Given the description of an element on the screen output the (x, y) to click on. 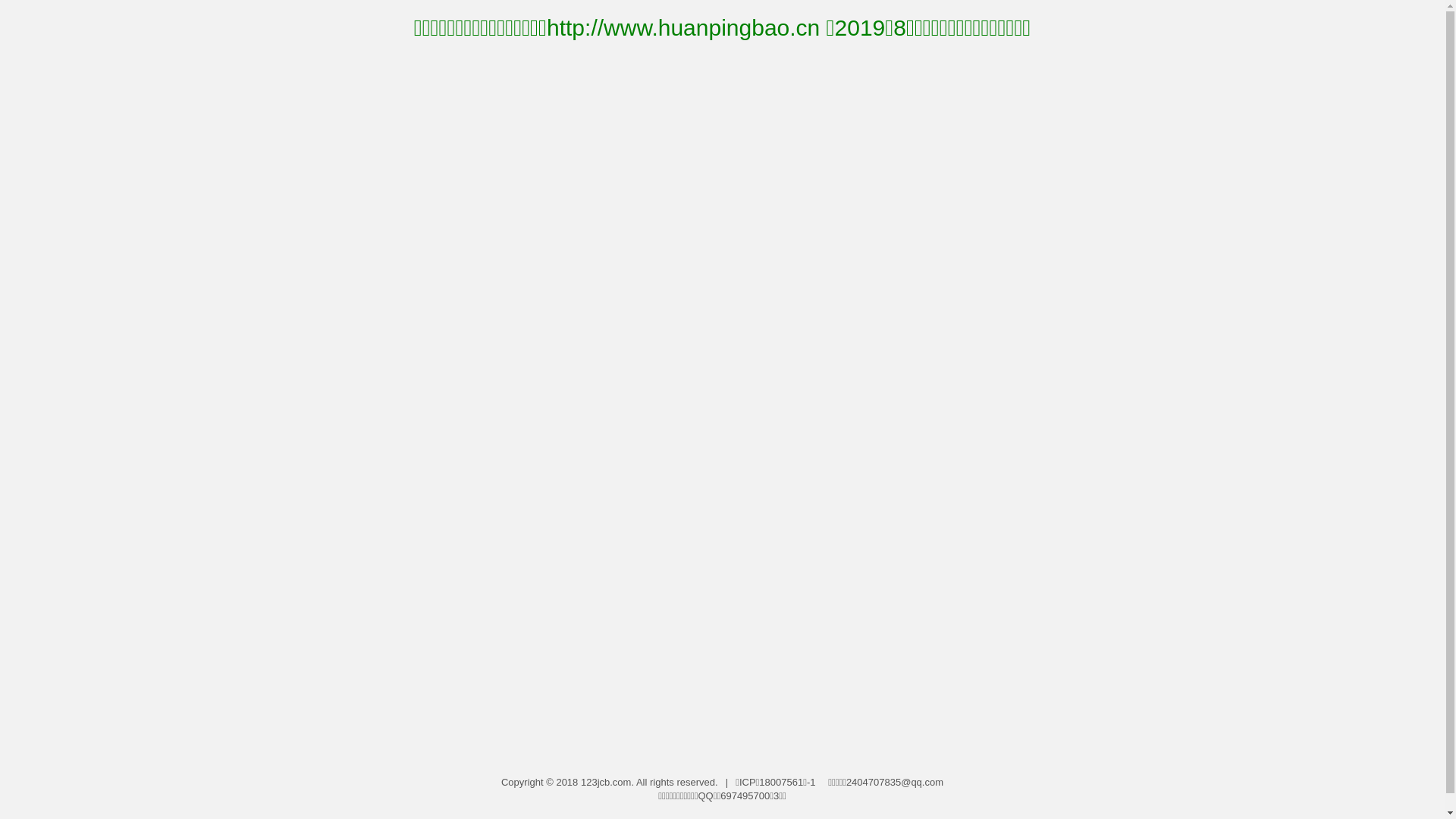
2404707835@qq.com Element type: text (894, 781)
